Given the description of an element on the screen output the (x, y) to click on. 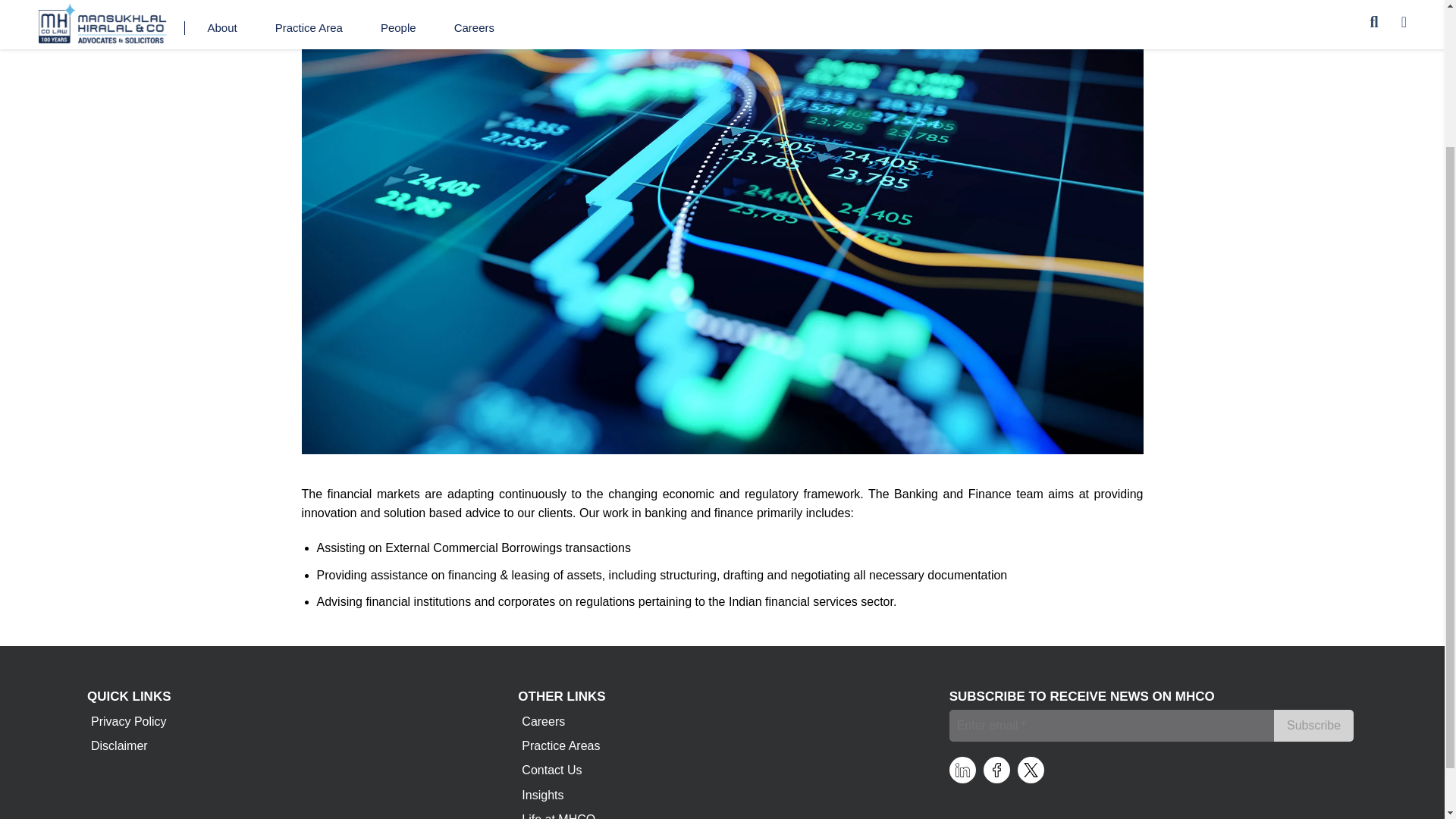
Privacy Policy (128, 721)
Careers (543, 721)
Insights (542, 794)
Practice Areas (561, 745)
Subscribe (1314, 726)
Contact Us (551, 770)
Disclaimer (119, 745)
